Given the description of an element on the screen output the (x, y) to click on. 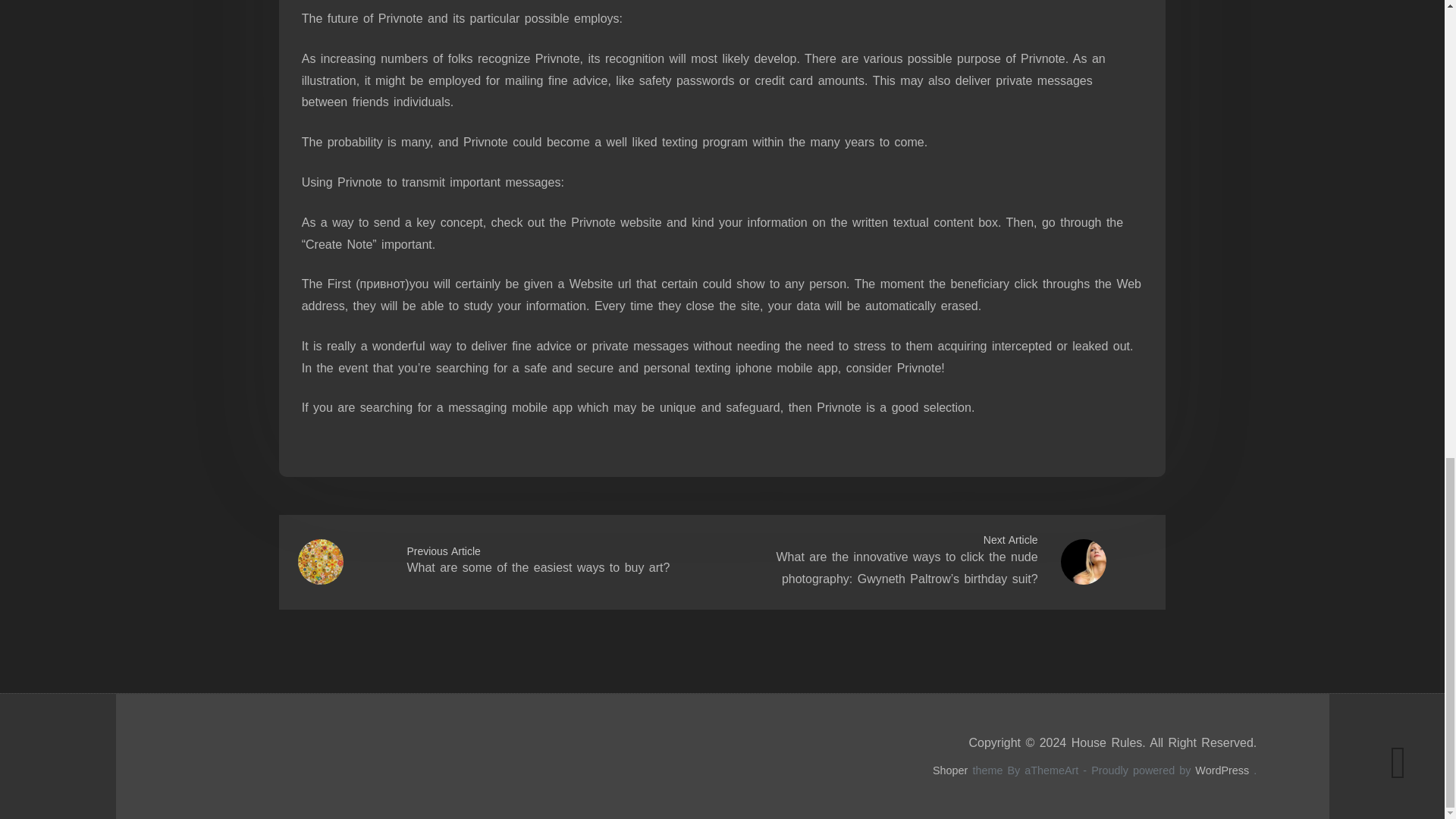
What are some of the easiest ways to buy art? (537, 567)
WordPress (1222, 770)
Shoper (950, 770)
